Given the description of an element on the screen output the (x, y) to click on. 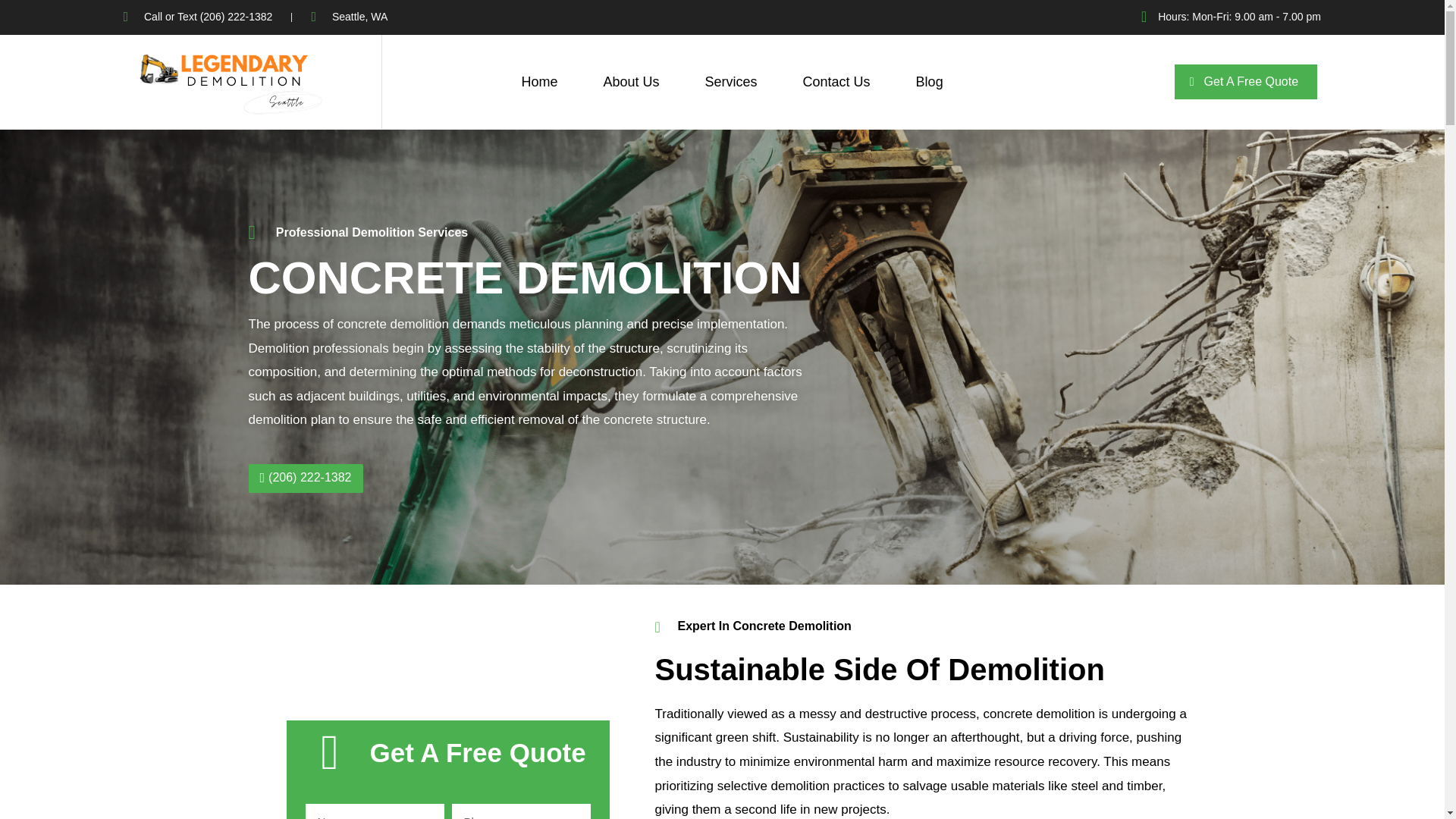
Services (731, 81)
Blog (929, 81)
Contact Us (836, 81)
Get A Free Quote (1245, 81)
Home (538, 81)
About Us (630, 81)
